Given the description of an element on the screen output the (x, y) to click on. 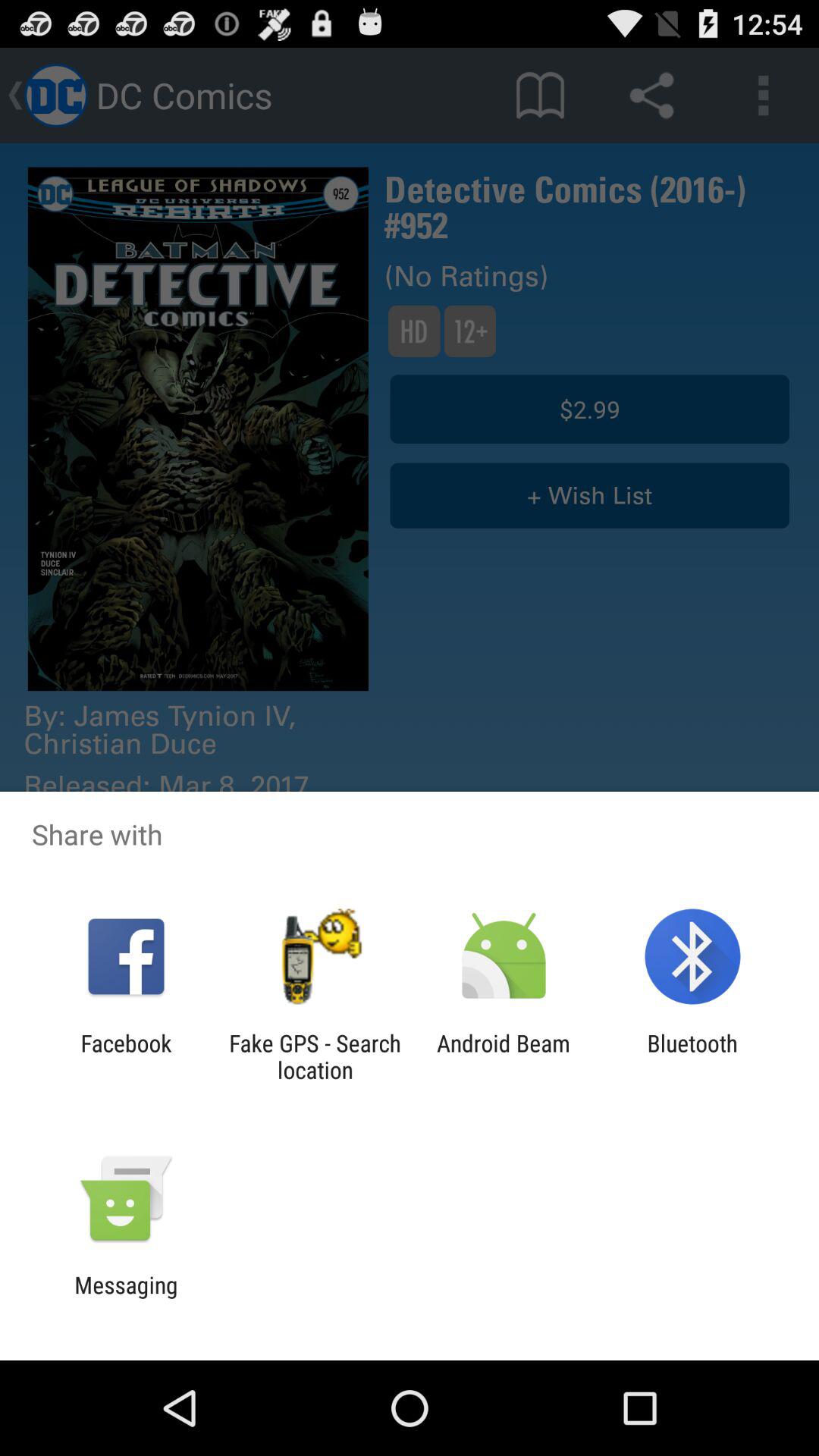
tap fake gps search icon (314, 1056)
